Given the description of an element on the screen output the (x, y) to click on. 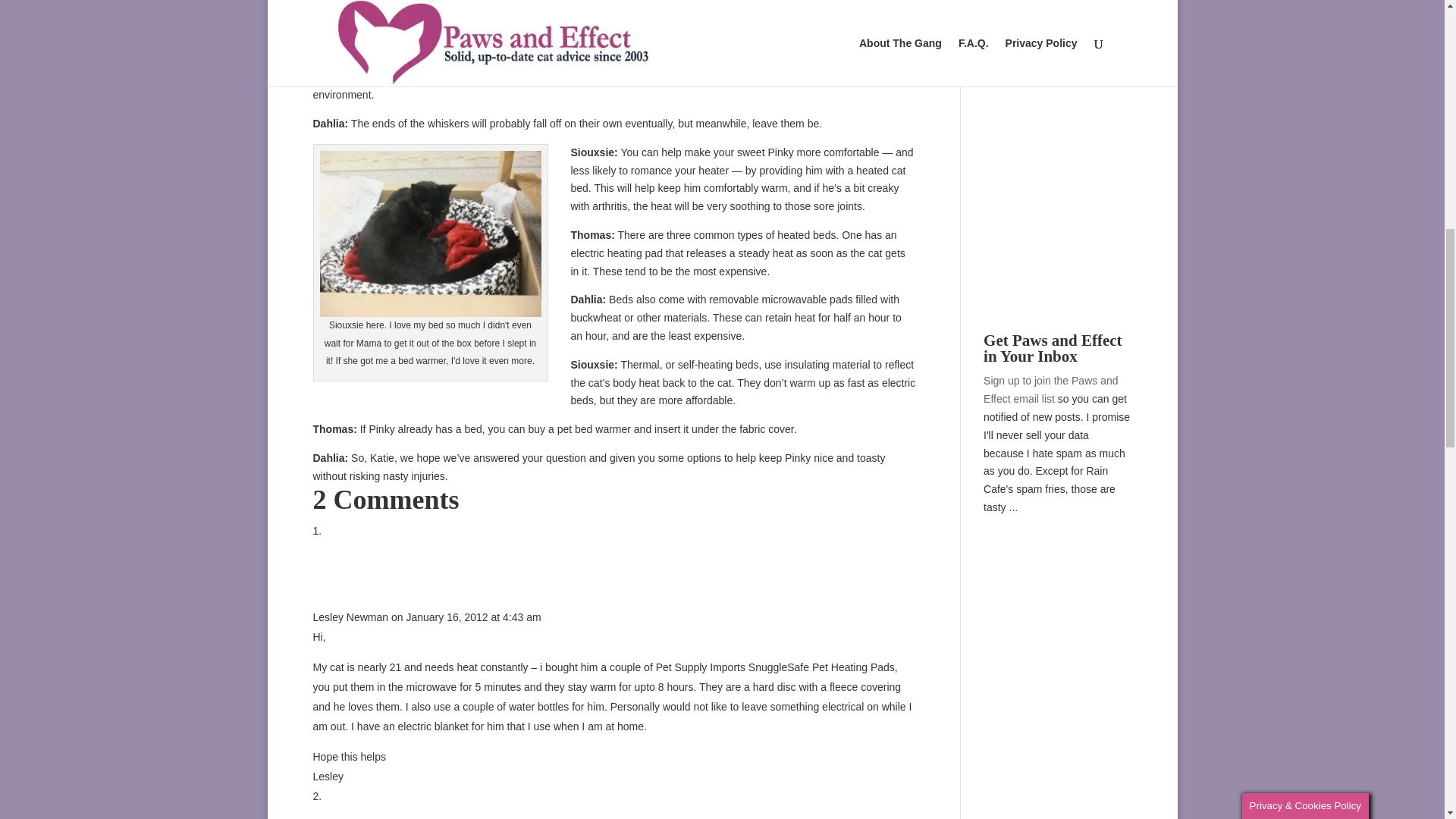
siouxsie in bed (430, 233)
Sign up to join the Paws and Effect email list (1051, 389)
